Given the description of an element on the screen output the (x, y) to click on. 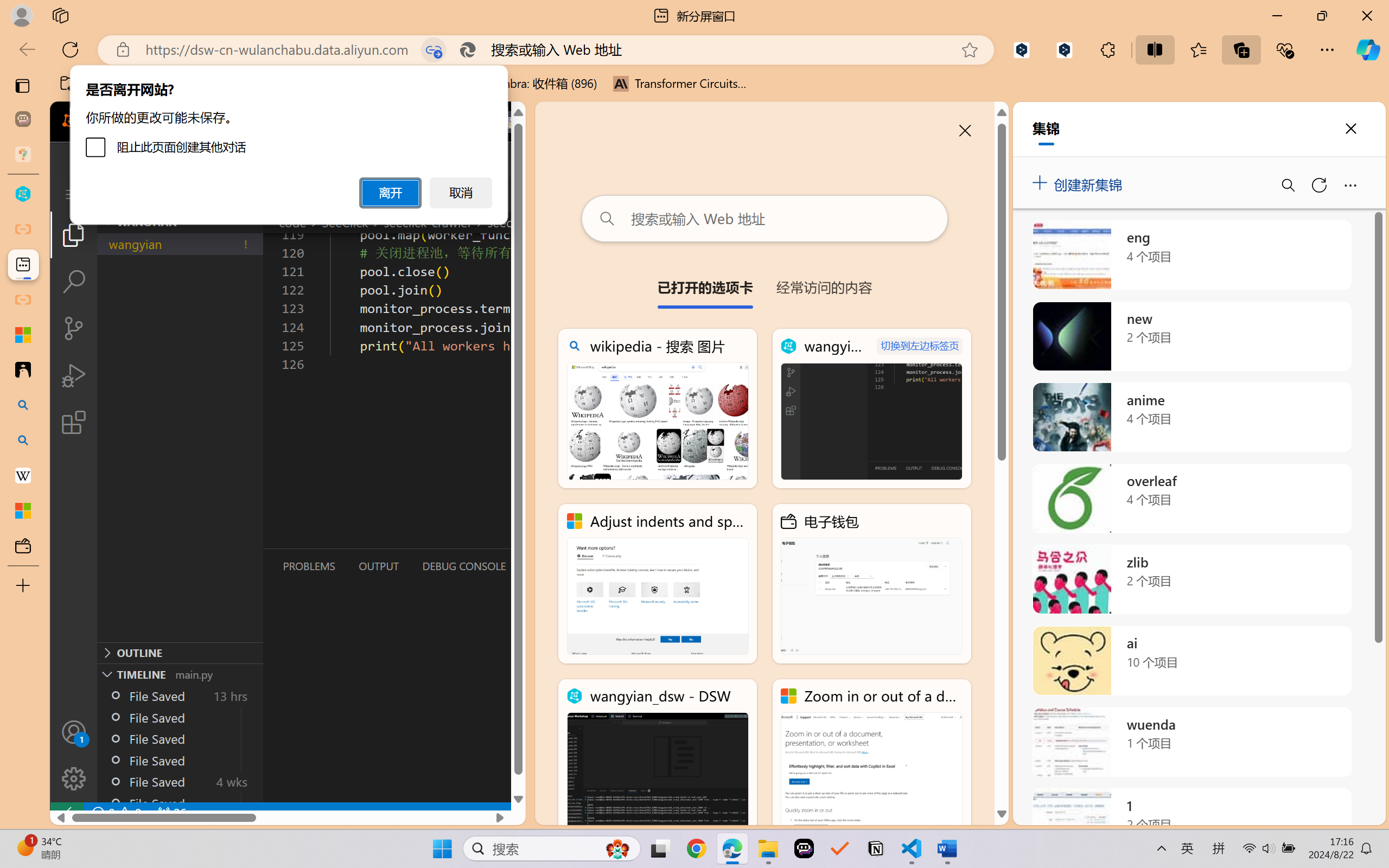
Insert Header Row (399, 60)
Insert Header Row (395, 60)
Slide Title (258, 51)
Spelling... (234, 62)
Font Color (63, 62)
